Given the description of an element on the screen output the (x, y) to click on. 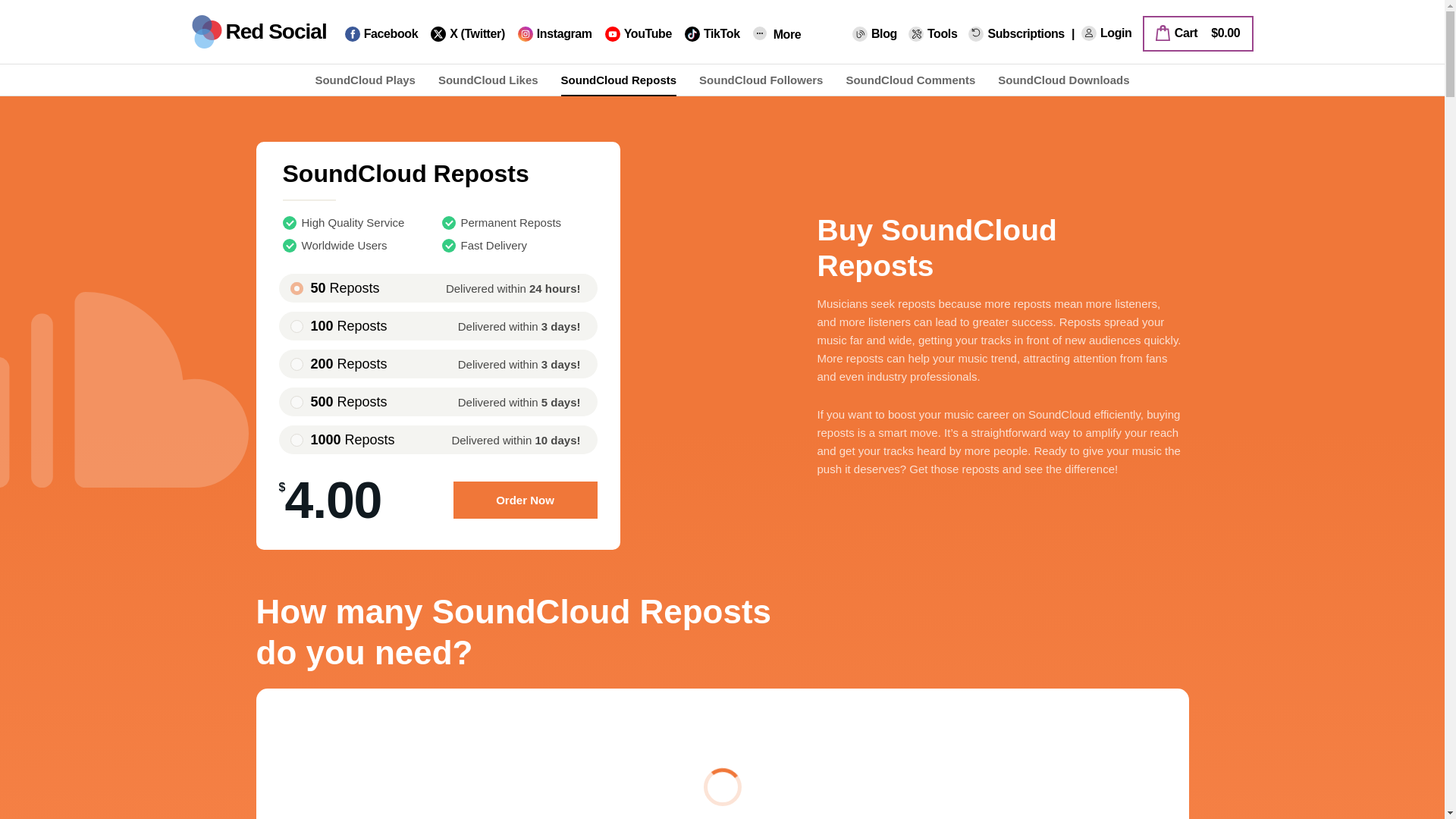
Facebook (382, 33)
YouTube (638, 33)
Red Social (258, 31)
TikTok (711, 33)
Instagram (555, 33)
